Given the description of an element on the screen output the (x, y) to click on. 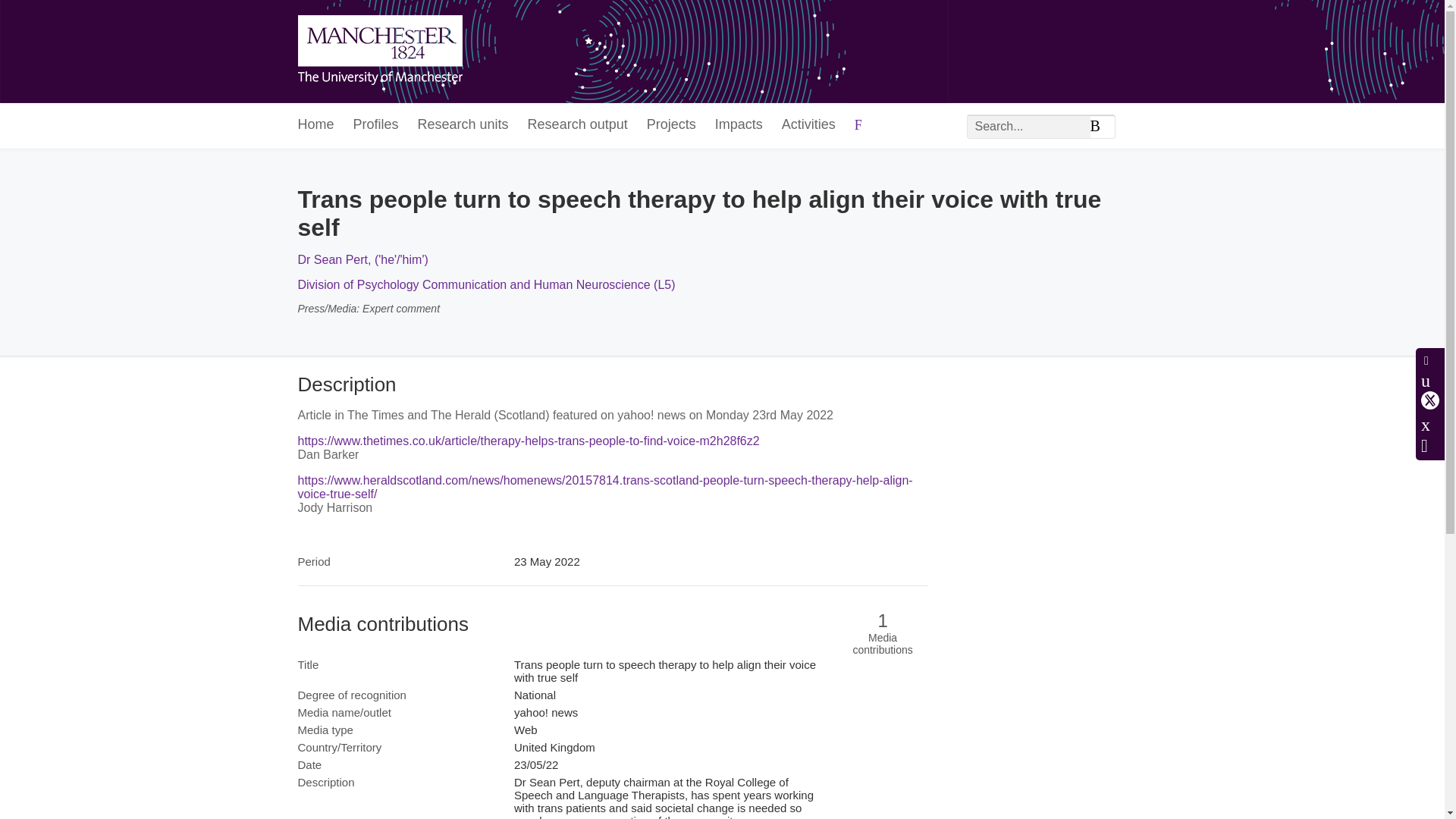
Projects (670, 125)
Research Explorer The University of Manchester Home (379, 51)
Research output (577, 125)
Activities (808, 125)
X (1430, 400)
Profiles (375, 125)
Impacts (738, 125)
Research units (462, 125)
